Given the description of an element on the screen output the (x, y) to click on. 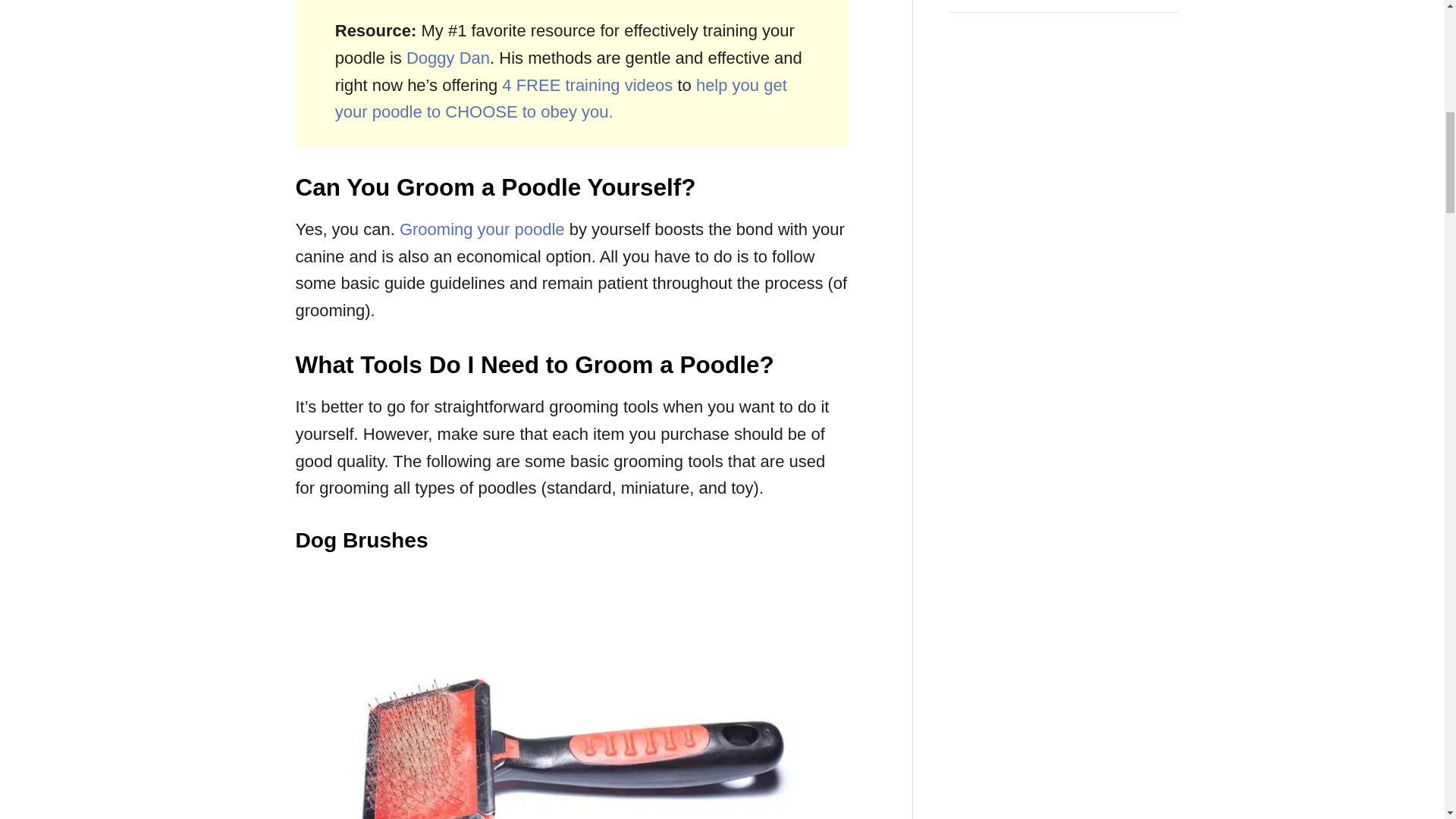
4 FREE training videos (587, 85)
Grooming your poodle (481, 229)
Doggy Dan (447, 57)
help you get your poodle to CHOOSE to obey you. (560, 99)
